Given the description of an element on the screen output the (x, y) to click on. 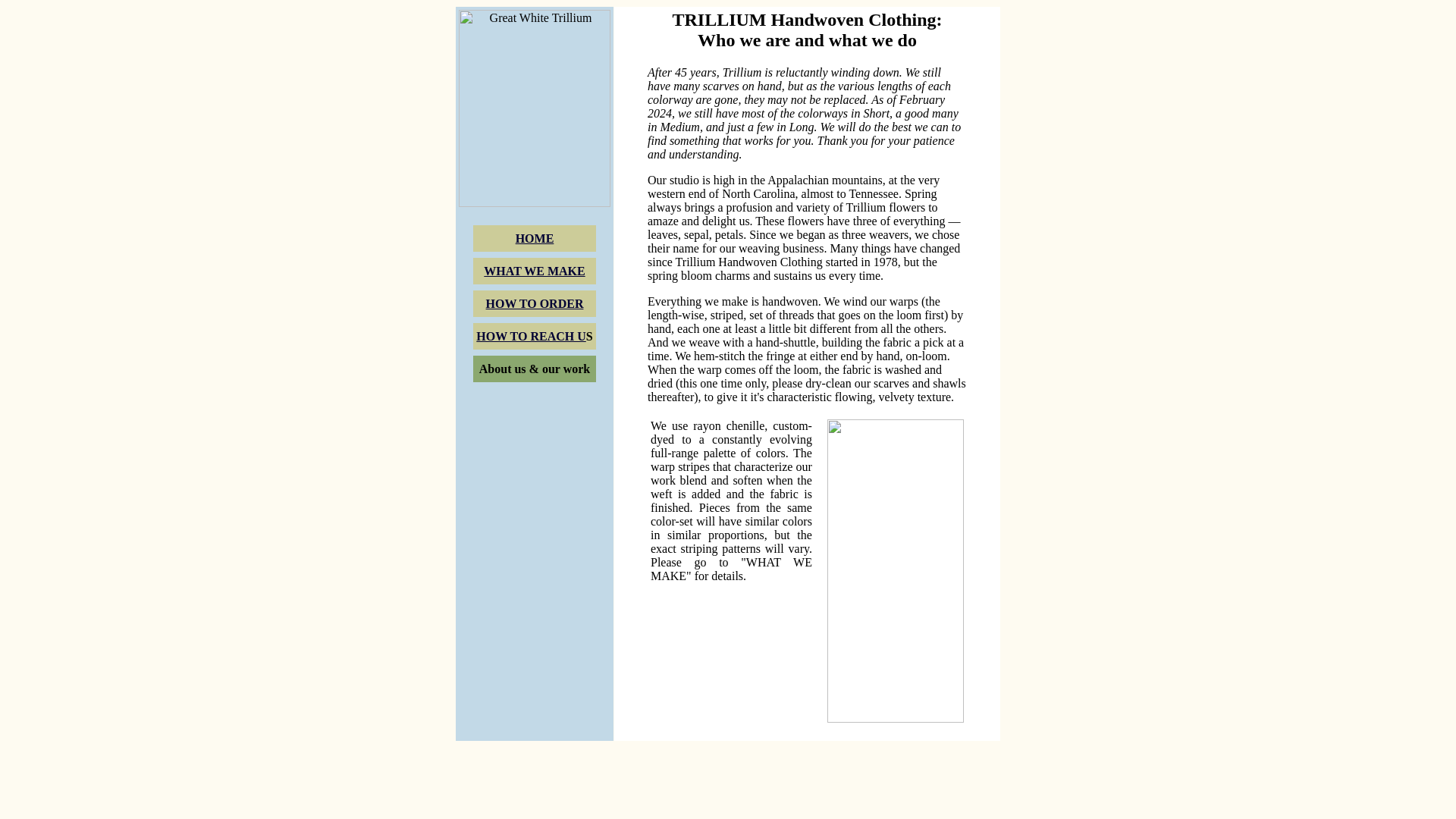
HOME (534, 237)
HOW TO REACH U (530, 335)
HOW TO ORDER (534, 303)
WHAT WE MAKE (534, 269)
